Given the description of an element on the screen output the (x, y) to click on. 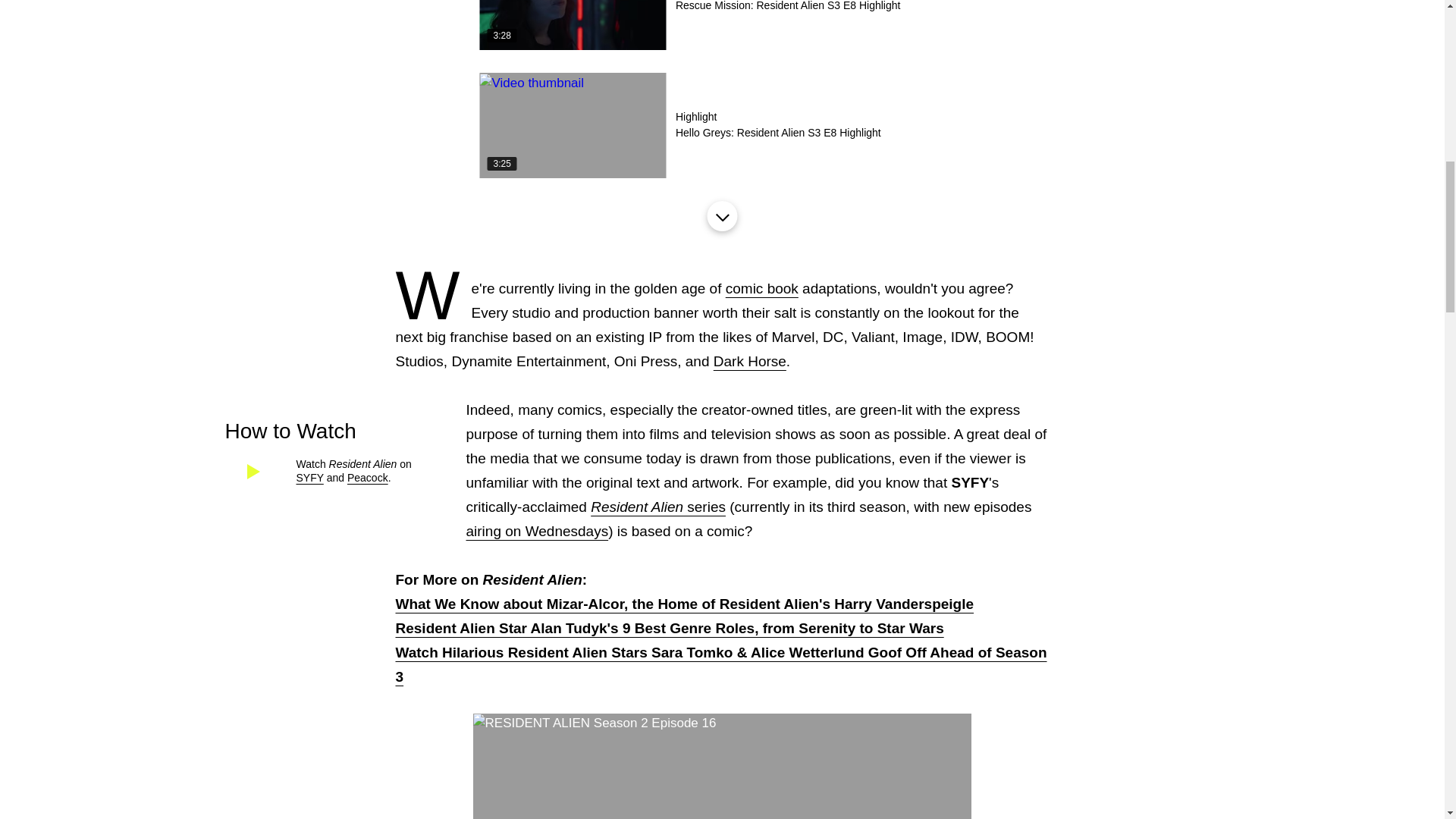
comic book (761, 288)
Dark Horse (749, 360)
Peacock (367, 477)
Load More (721, 215)
Resident Alien series (658, 506)
airing on Wednesdays (721, 125)
SYFY (536, 530)
